Given the description of an element on the screen output the (x, y) to click on. 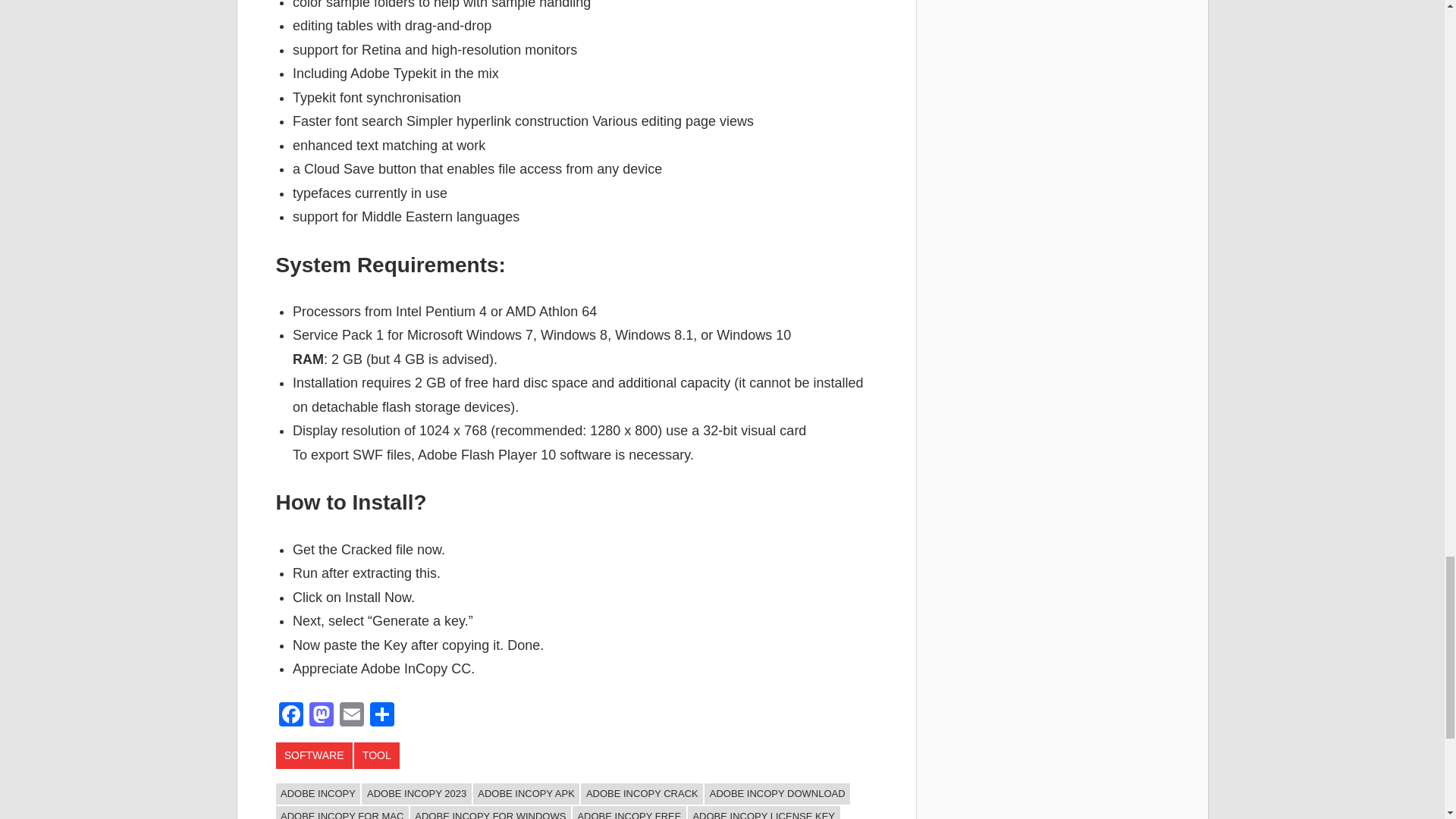
ADOBE INCOPY CRACK (641, 793)
ADOBE INCOPY DOWNLOAD (777, 793)
Email (351, 715)
Facebook (290, 715)
ADOBE INCOPY APK (526, 793)
Facebook (290, 715)
ADOBE INCOPY (318, 793)
Email (351, 715)
ADOBE INCOPY FOR WINDOWS (490, 812)
ADOBE INCOPY 2023 (415, 793)
